Given the description of an element on the screen output the (x, y) to click on. 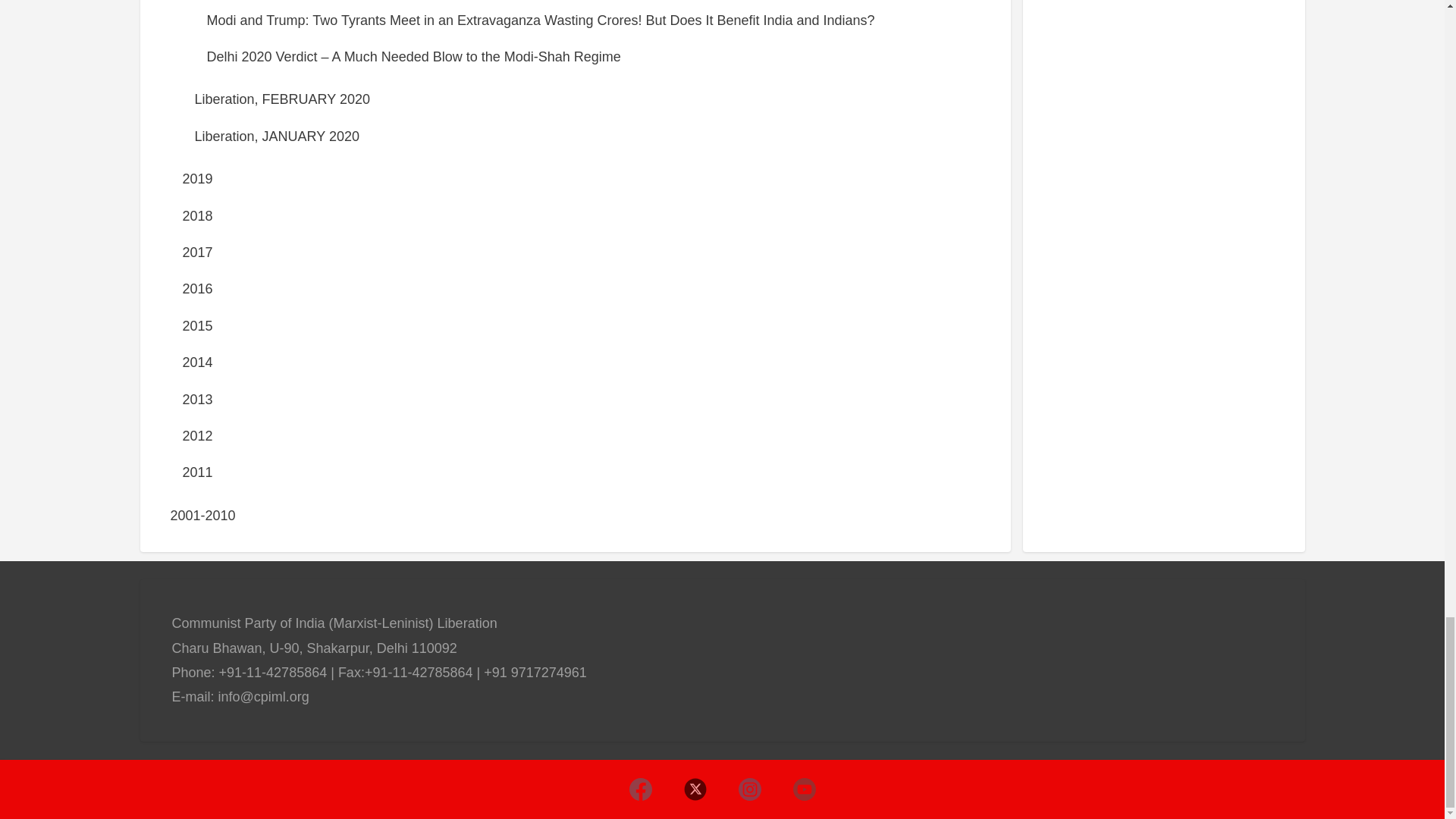
Liberation, FEBRUARY 2020 (281, 99)
2018 (197, 215)
2015 (197, 325)
2016 (197, 288)
2011 (197, 472)
2019 (197, 178)
2013 (197, 399)
2012 (197, 435)
2001-2010 (202, 515)
Liberation, JANUARY 2020 (275, 136)
2014 (197, 362)
2017 (197, 252)
